Given the description of an element on the screen output the (x, y) to click on. 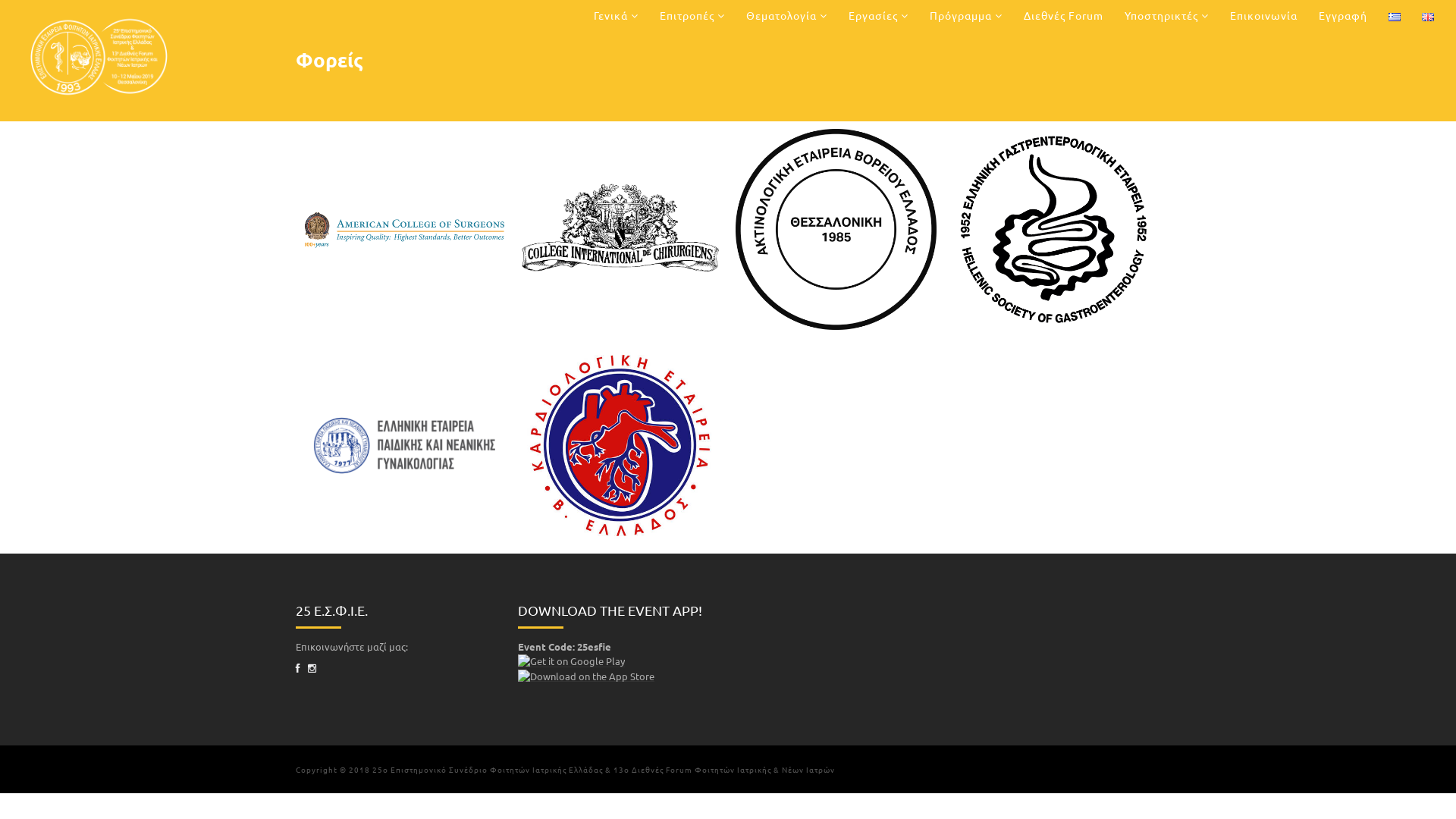
English Element type: hover (1427, 16)
